Given the description of an element on the screen output the (x, y) to click on. 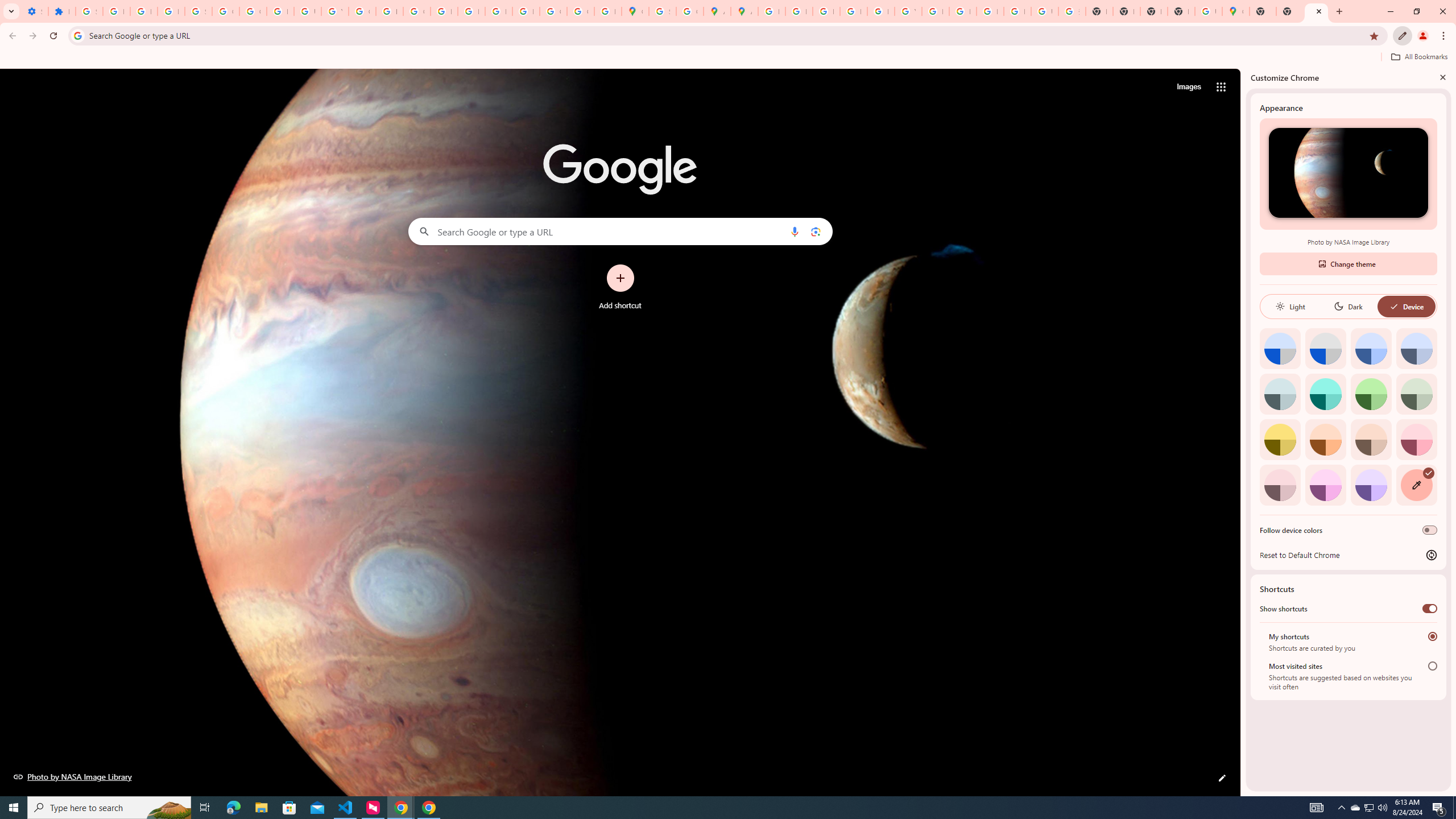
AutomationID: baseSvg (1394, 306)
Google Maps (634, 11)
Dark (1348, 305)
AutomationID: svg (1428, 472)
Use Google Maps in Space - Google Maps Help (1208, 11)
New Tab (1316, 11)
Sign in - Google Accounts (88, 11)
